Given the description of an element on the screen output the (x, y) to click on. 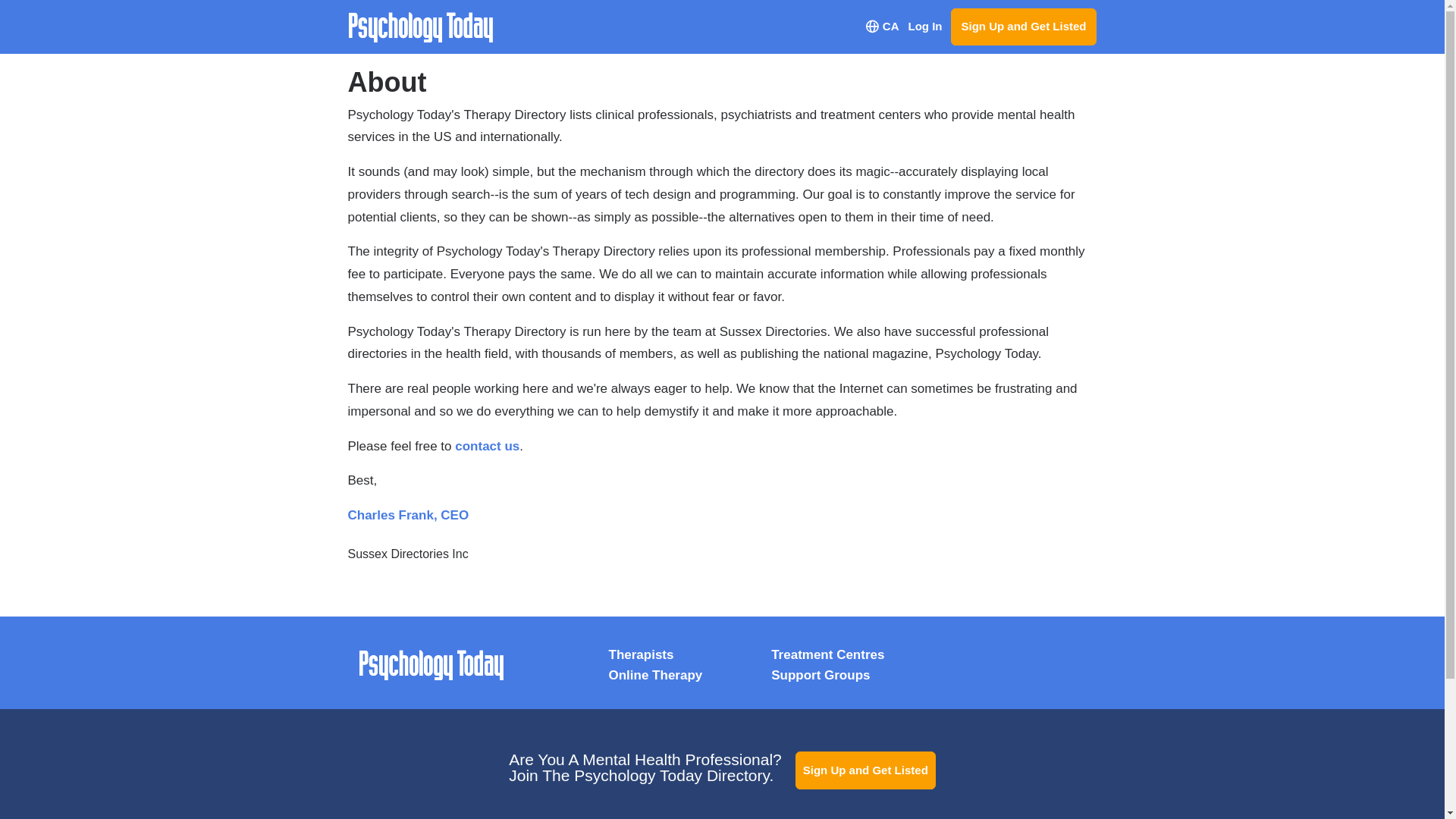
Sign Up and Get Listed (865, 770)
Find Online Therapy - Phone, Video and Online Counselling (654, 675)
Therapists (640, 654)
Find a Support Group (820, 675)
Treatment Centres (827, 654)
Find a Therapist (640, 654)
Log In (924, 27)
Psychology Today (431, 665)
Psychology Today (431, 665)
contact us (486, 445)
Psychology Today (421, 27)
Sign Up and Get Listed (1023, 26)
Charles Frank, CEO (407, 514)
Support Groups (820, 675)
CA (882, 27)
